Given the description of an element on the screen output the (x, y) to click on. 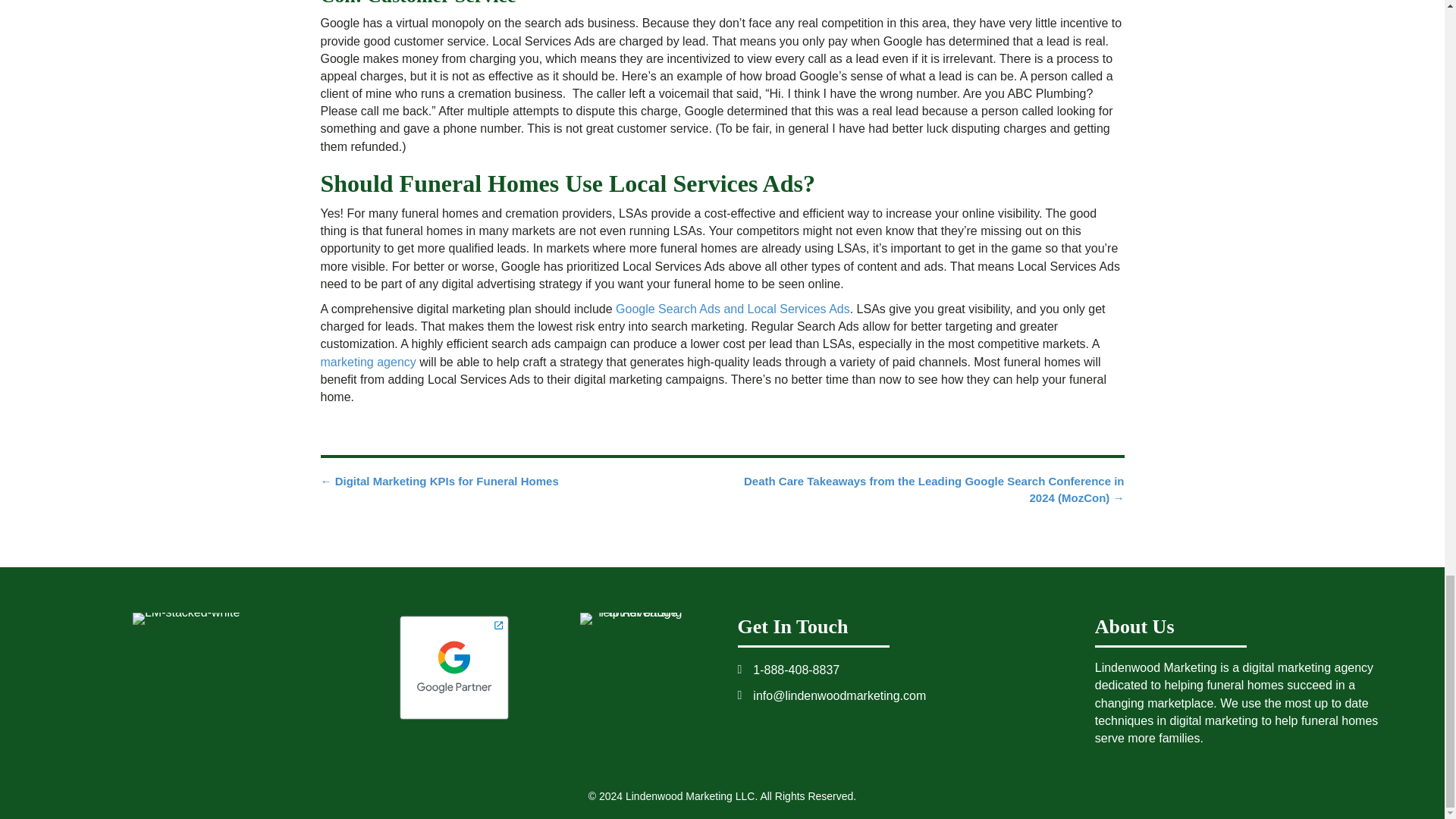
marketing agency (367, 361)
Google Search Ads and Local Services Ads (732, 308)
LM-stacked-white (186, 618)
1-888-408-8837 (796, 669)
